Given the description of an element on the screen output the (x, y) to click on. 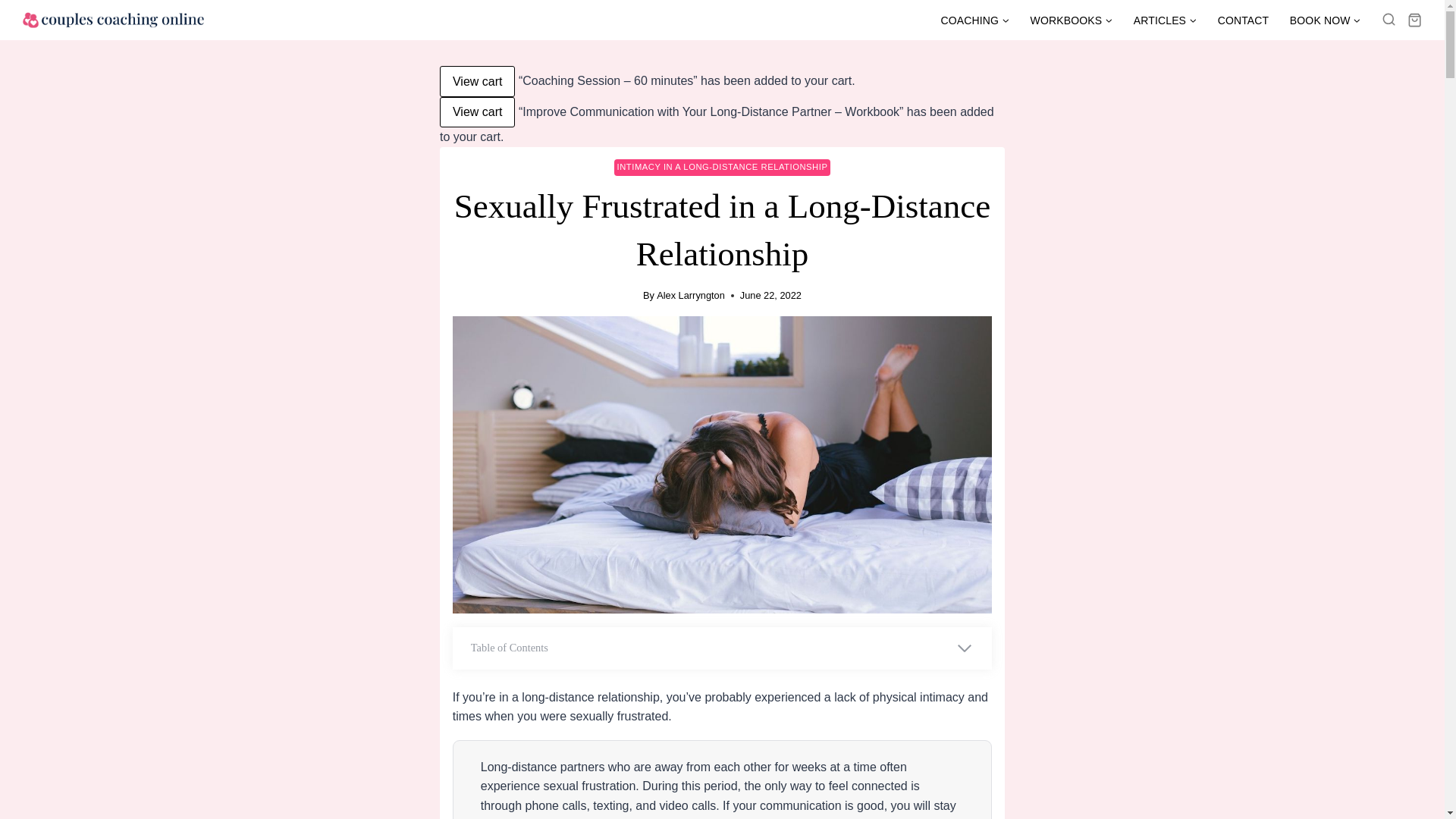
WORKBOOKS (1071, 19)
COACHING (975, 19)
ARTICLES (1164, 19)
